Given the description of an element on the screen output the (x, y) to click on. 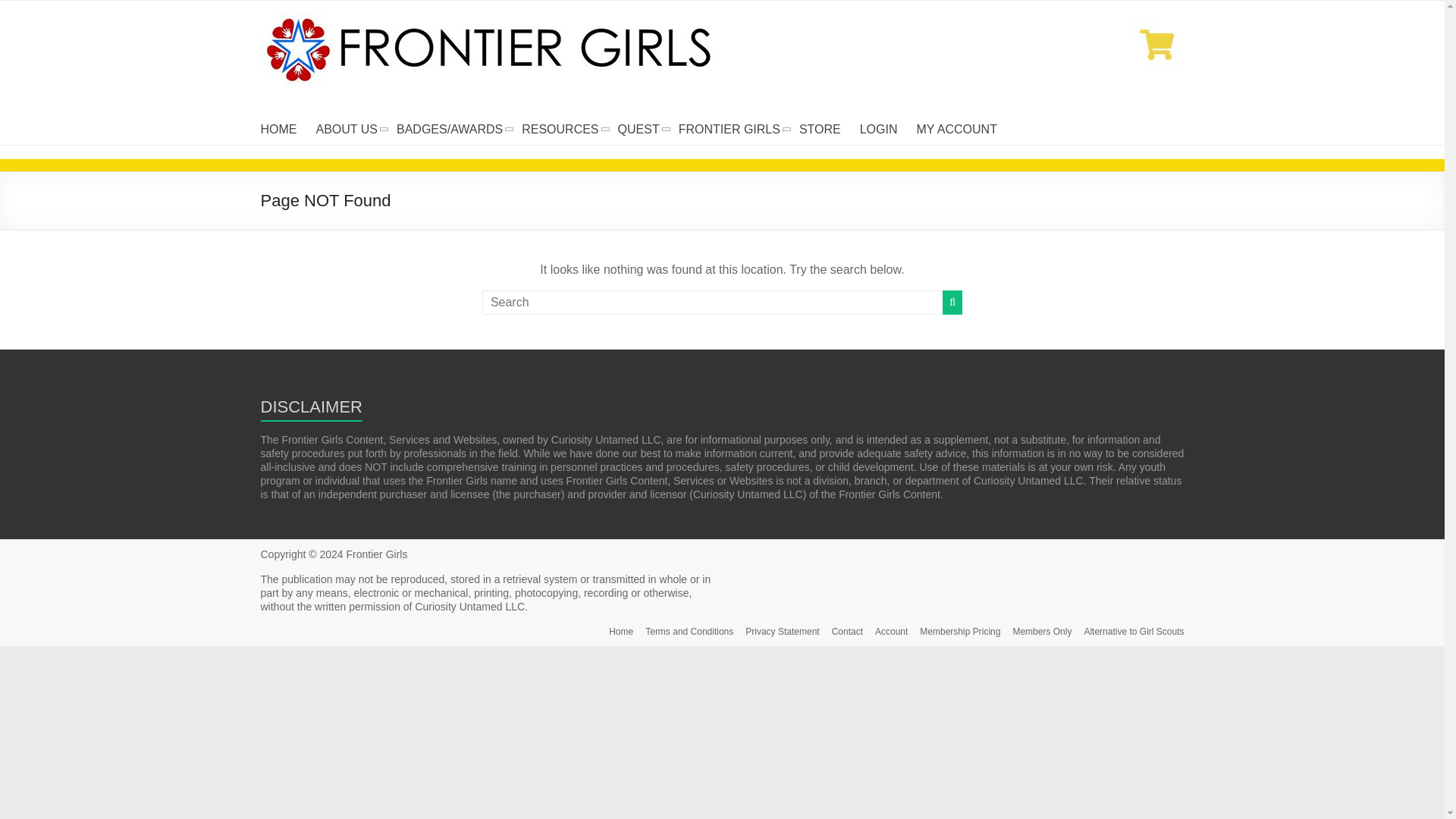
Frontier Girls (376, 553)
Frontier Girls (306, 46)
QUEST (638, 128)
HOME (278, 128)
RESOURCES (559, 128)
Frontier Girls (306, 46)
ABOUT US (346, 128)
